Given the description of an element on the screen output the (x, y) to click on. 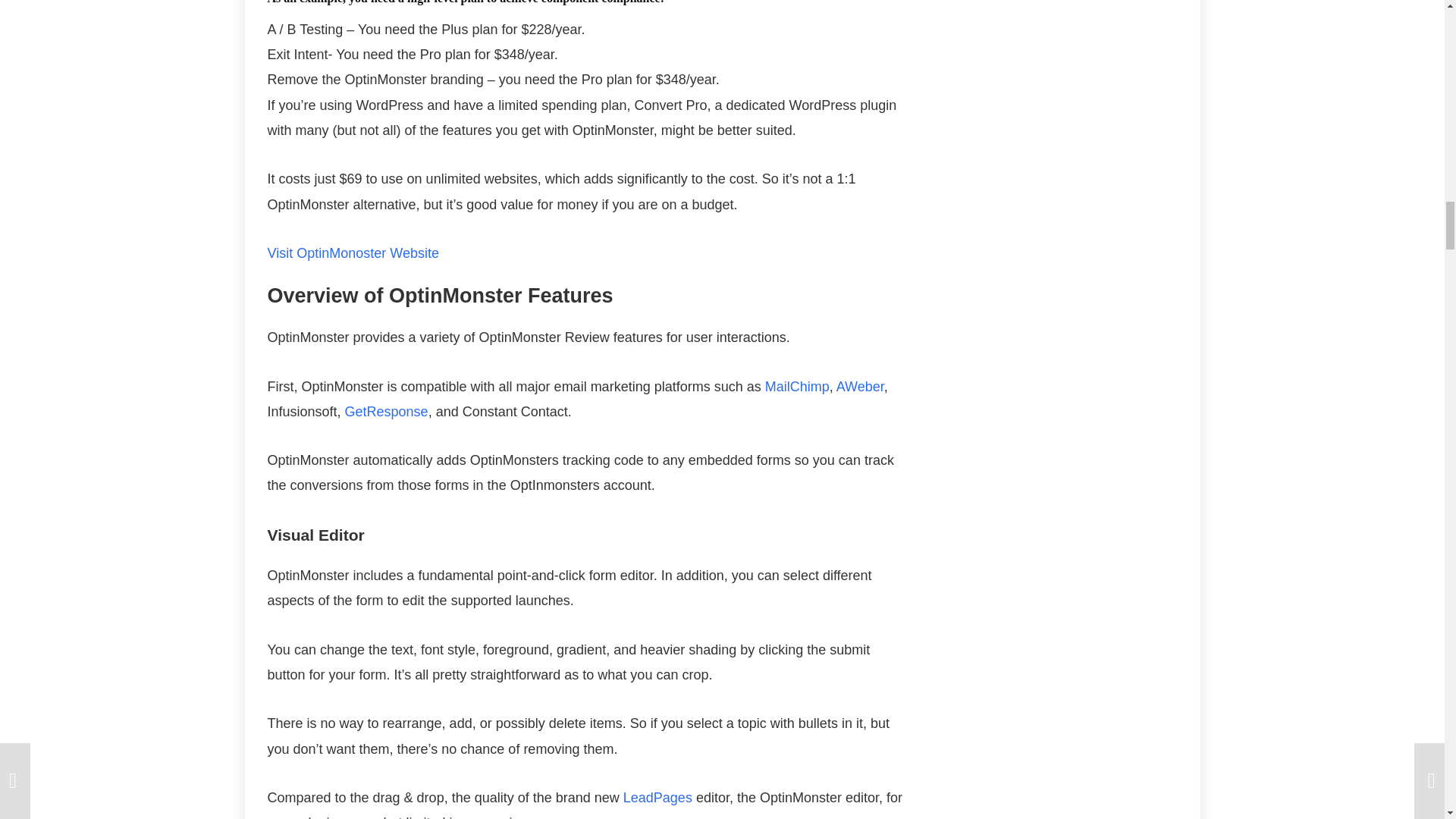
Visit OptinMonoster Website (352, 253)
AWeber (859, 386)
LeadPages (658, 797)
MailChimp (797, 386)
GetResponse (386, 411)
